Given the description of an element on the screen output the (x, y) to click on. 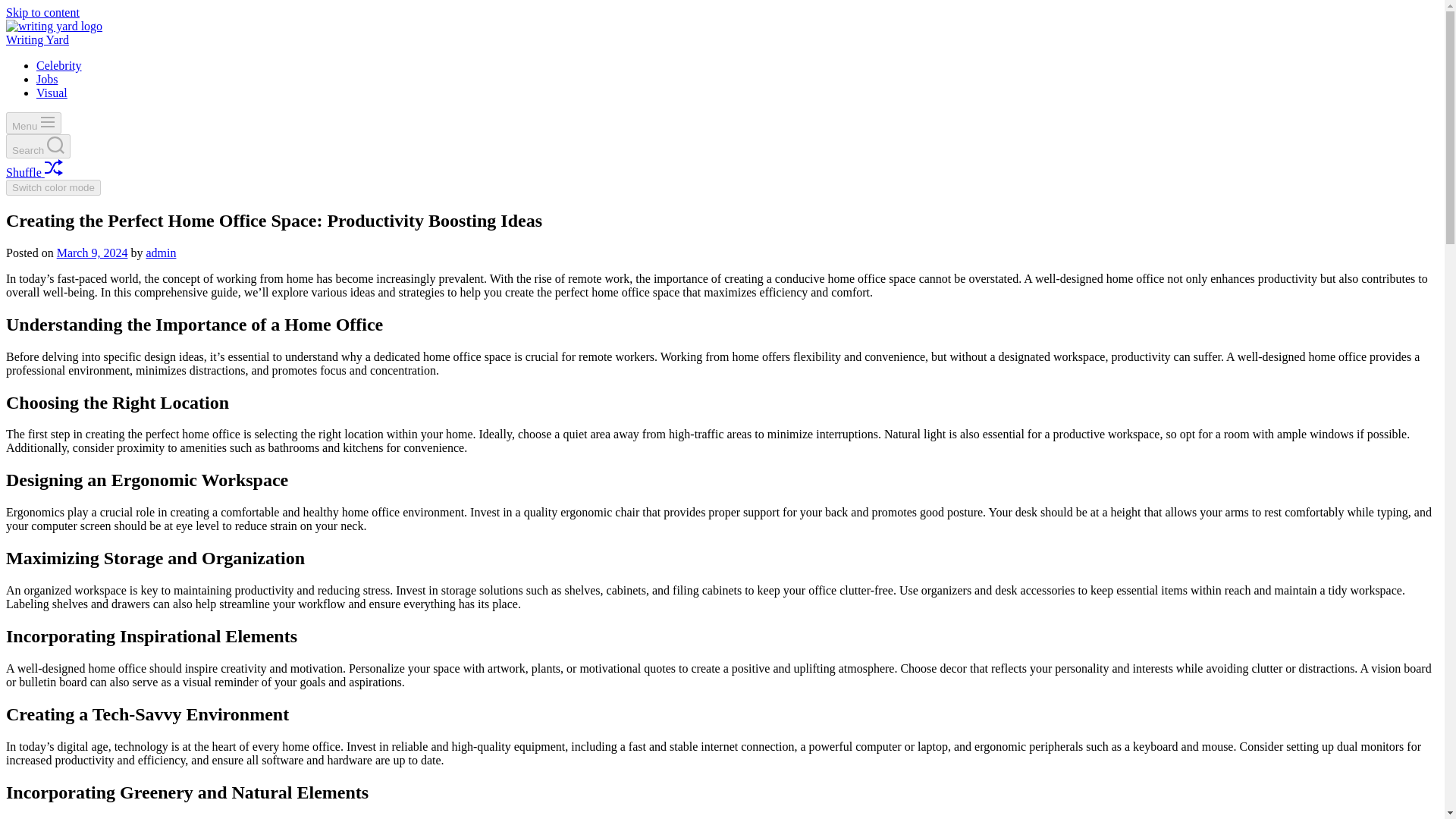
Writing Yard (36, 39)
March 9, 2024 (92, 252)
Search (37, 146)
Visual (51, 92)
Jobs (47, 78)
Switch color mode (52, 187)
Shuffle (33, 172)
Skip to content (42, 11)
Menu (33, 123)
Celebrity (58, 65)
